Given the description of an element on the screen output the (x, y) to click on. 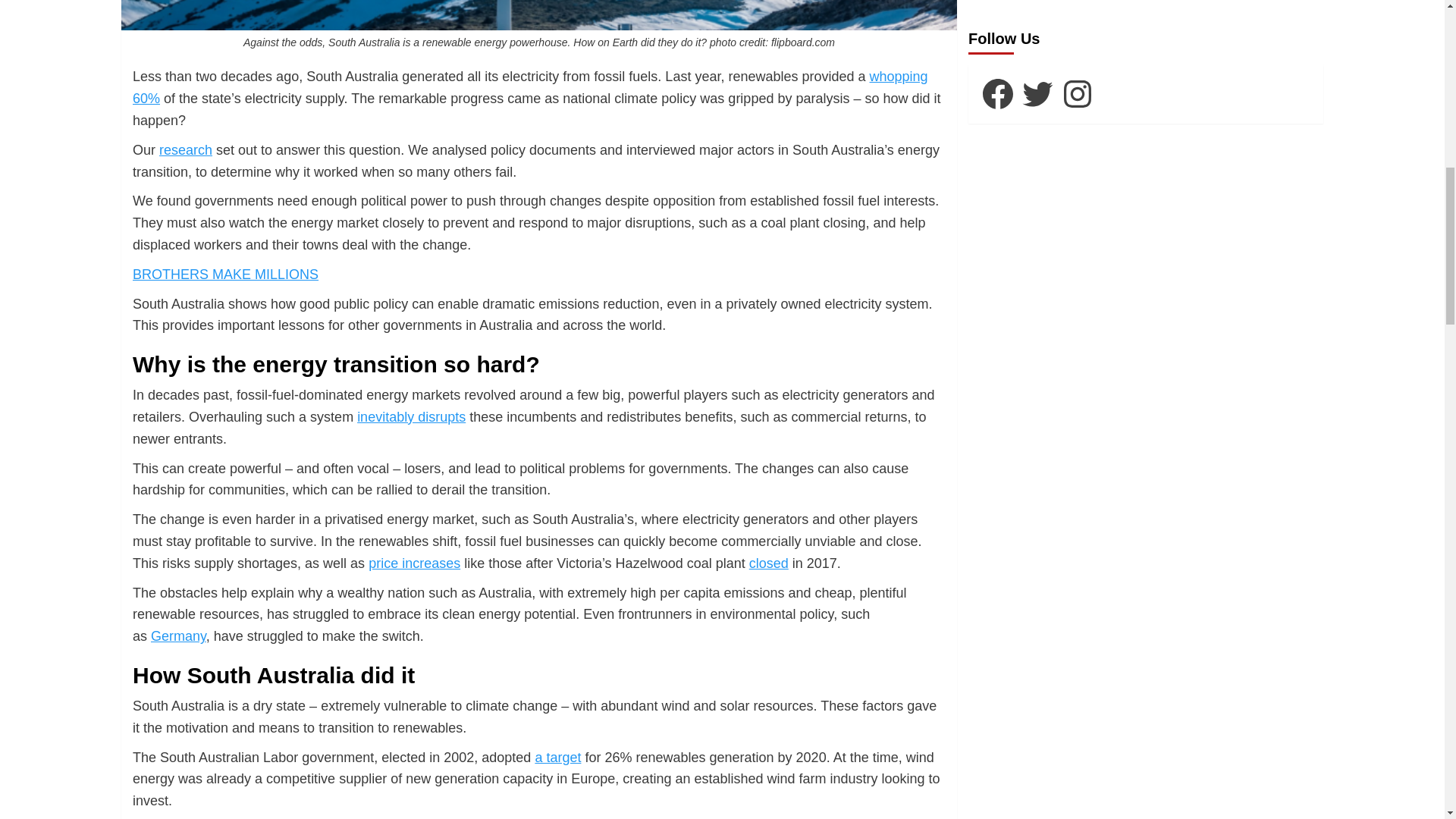
research (185, 150)
